Given the description of an element on the screen output the (x, y) to click on. 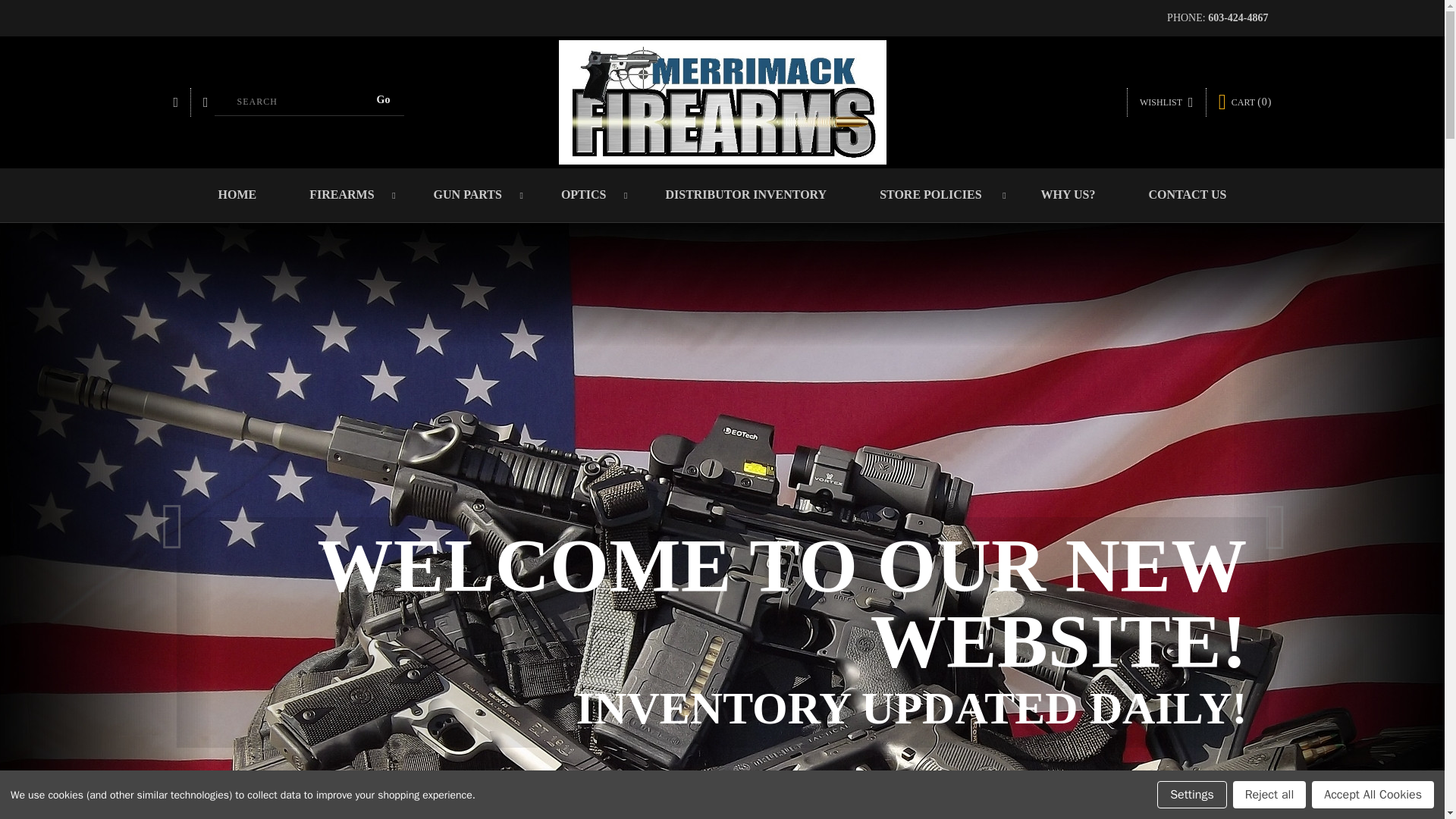
HOME (237, 194)
STORE POLICIES (933, 194)
FIREARMS (344, 194)
OPTICS (586, 194)
Merrimack Firearms (721, 102)
GUN PARTS (470, 194)
603-424-4867 (1238, 17)
DISTRIBUTOR INVENTORY (746, 194)
Go (383, 99)
WISHLIST (1165, 102)
Go (383, 99)
CART 0 (1245, 102)
